Given the description of an element on the screen output the (x, y) to click on. 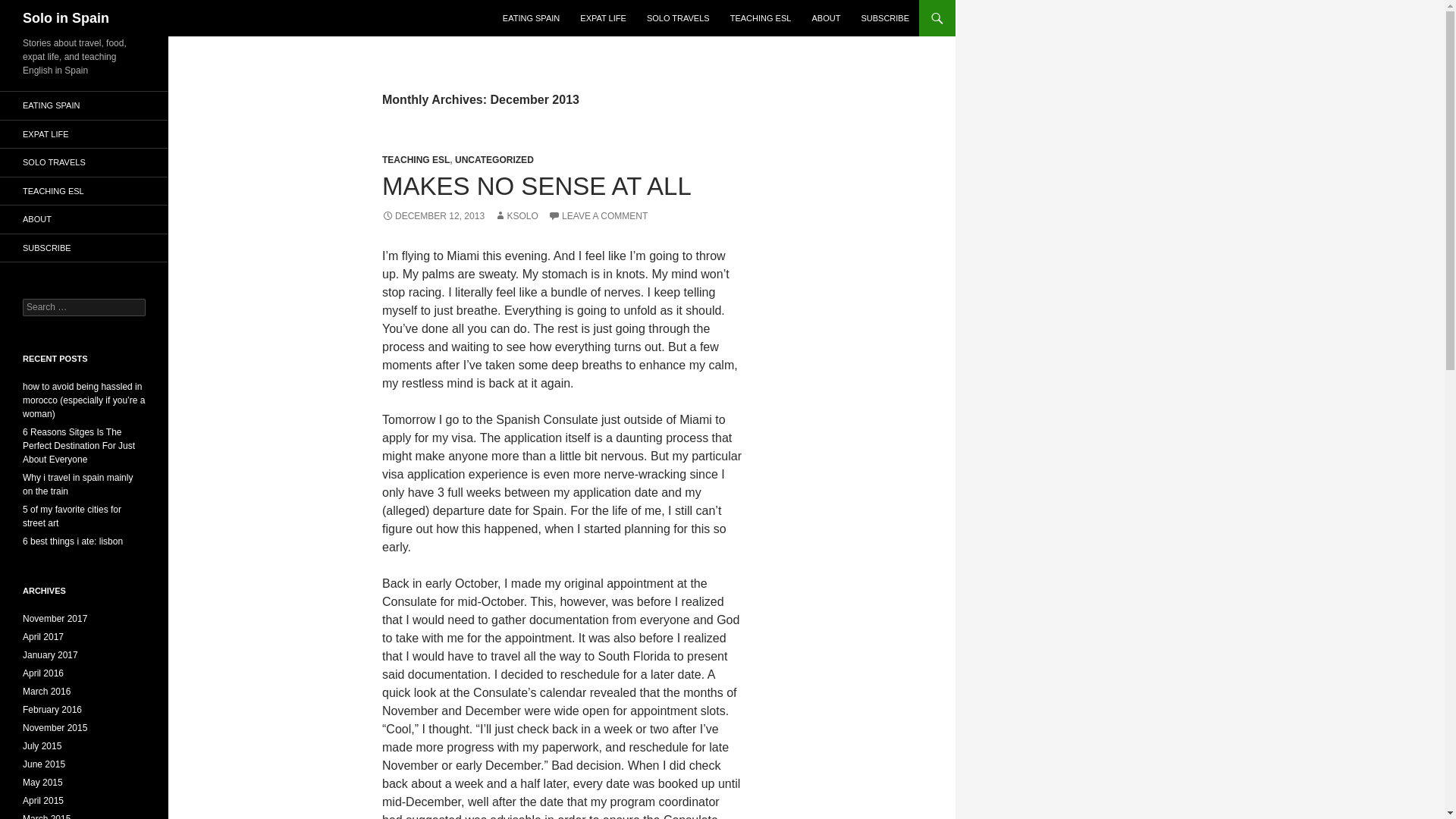
EATING SPAIN (531, 18)
KSOLO (516, 215)
UNCATEGORIZED (494, 159)
DECEMBER 12, 2013 (432, 215)
TEACHING ESL (415, 159)
April 2016 (43, 673)
SOLO TRAVELS (84, 162)
SUBSCRIBE (884, 18)
March 2016 (46, 691)
